Given the description of an element on the screen output the (x, y) to click on. 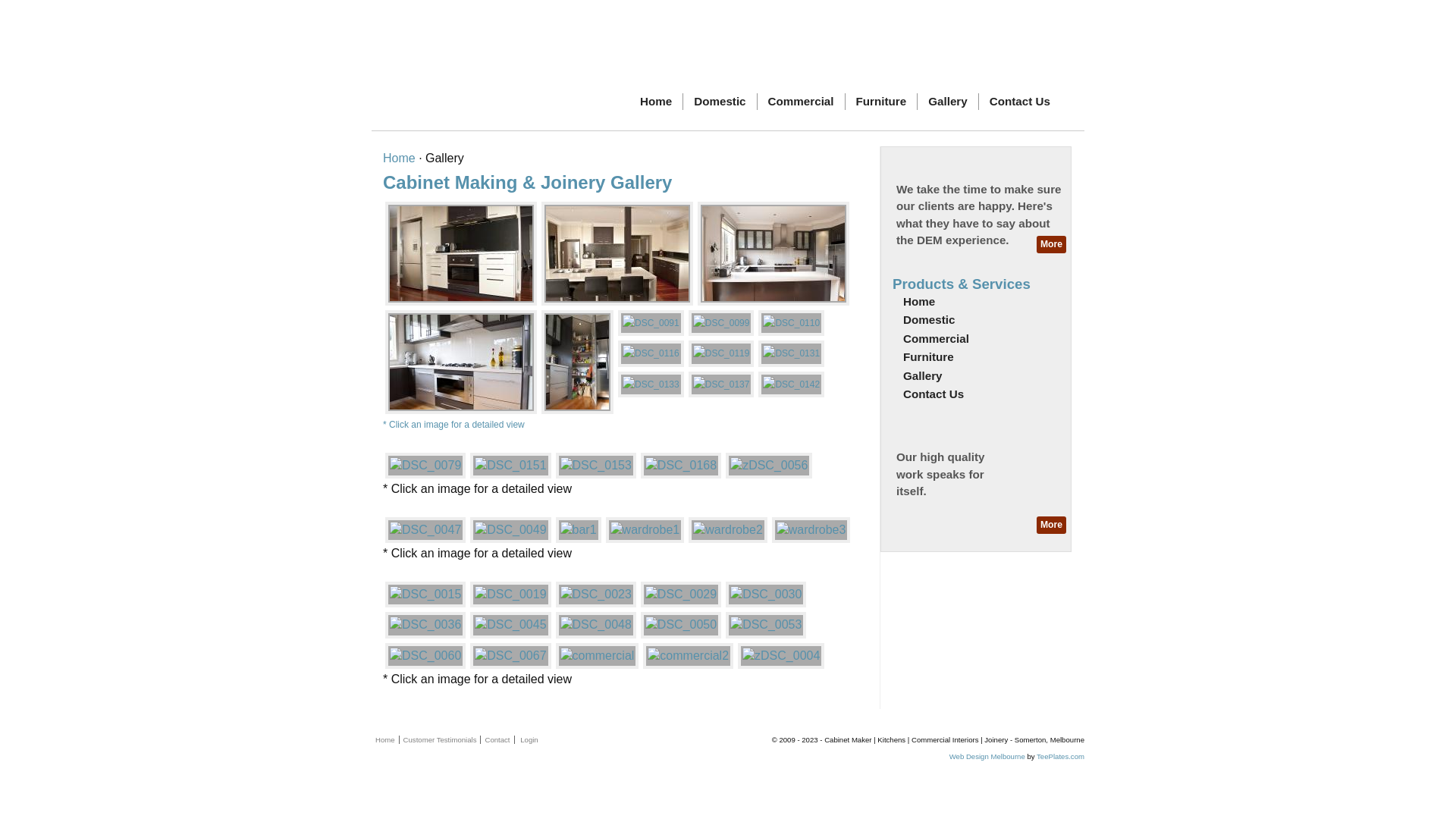
More Element type: text (1051, 524)
Home Element type: text (975, 301)
Customer Testimonials Element type: text (440, 739)
Furniture Element type: text (881, 101)
Home Element type: text (385, 739)
Contact Us Element type: text (975, 394)
More Element type: text (1051, 243)
Home Element type: text (656, 101)
Gallery Element type: text (948, 101)
Contact Element type: text (497, 739)
Contact Us Element type: text (1019, 101)
Gallery Element type: text (975, 376)
Login Element type: text (528, 739)
Domestic Element type: text (975, 319)
Furniture Element type: text (975, 357)
Domestic Element type: text (719, 101)
Home Element type: text (398, 157)
TeePlates.com Element type: text (1060, 756)
Web Design Melbourne Element type: text (987, 756)
Cabinet Making & Joinery Gallery Element type: text (526, 182)
Commercial Element type: text (975, 338)
Commercial Element type: text (801, 101)
